Given the description of an element on the screen output the (x, y) to click on. 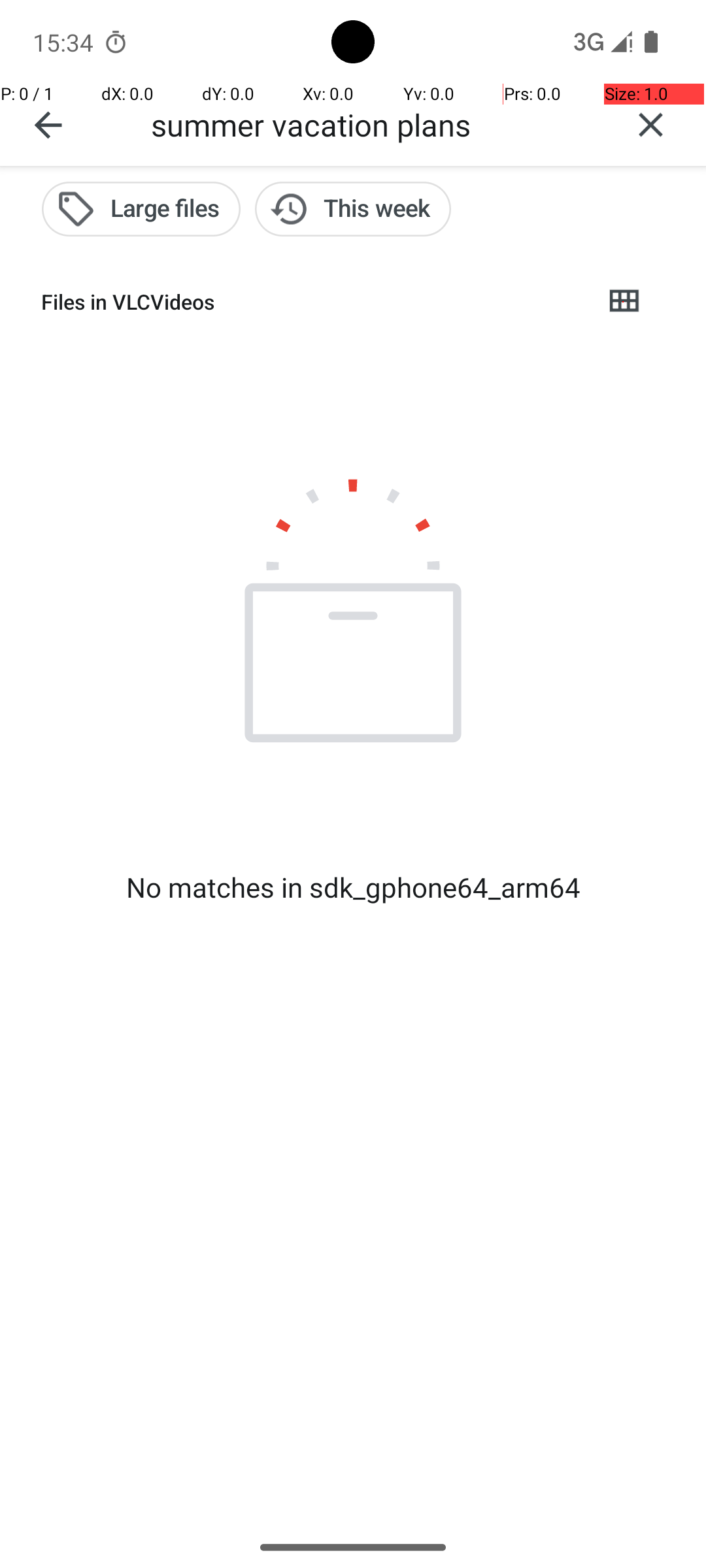
Files in VLCVideos Element type: android.widget.TextView (311, 301)
summer vacation plans Element type: android.widget.AutoCompleteTextView (373, 124)
No matches in sdk_gphone64_arm64 Element type: android.widget.TextView (353, 886)
